Given the description of an element on the screen output the (x, y) to click on. 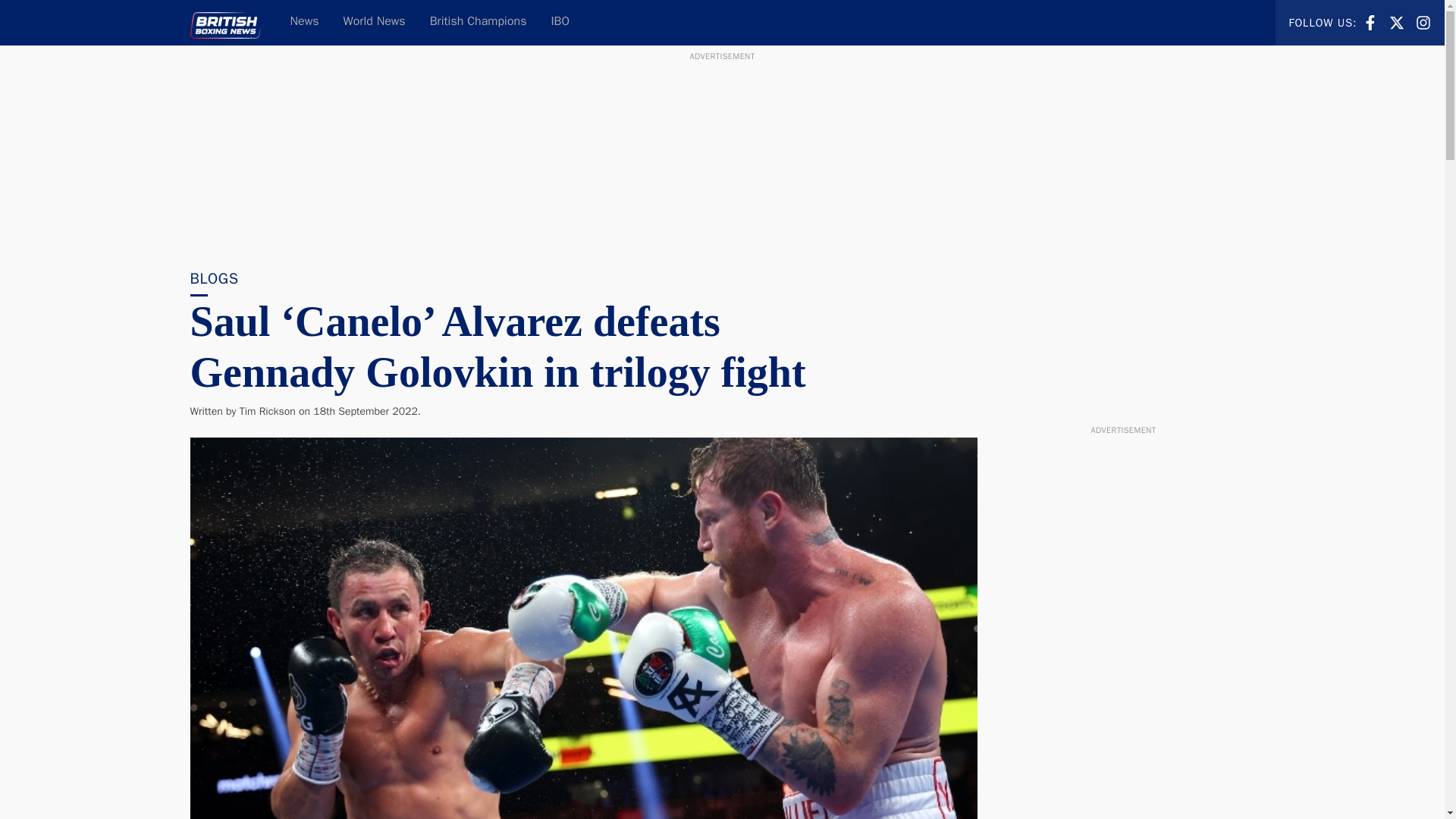
INSTAGRAM (1397, 21)
FACEBOOK (1423, 22)
British Champions (1369, 21)
World News (1423, 21)
Tim Rickson (1369, 22)
IBO (477, 22)
News (374, 22)
X (267, 410)
